Given the description of an element on the screen output the (x, y) to click on. 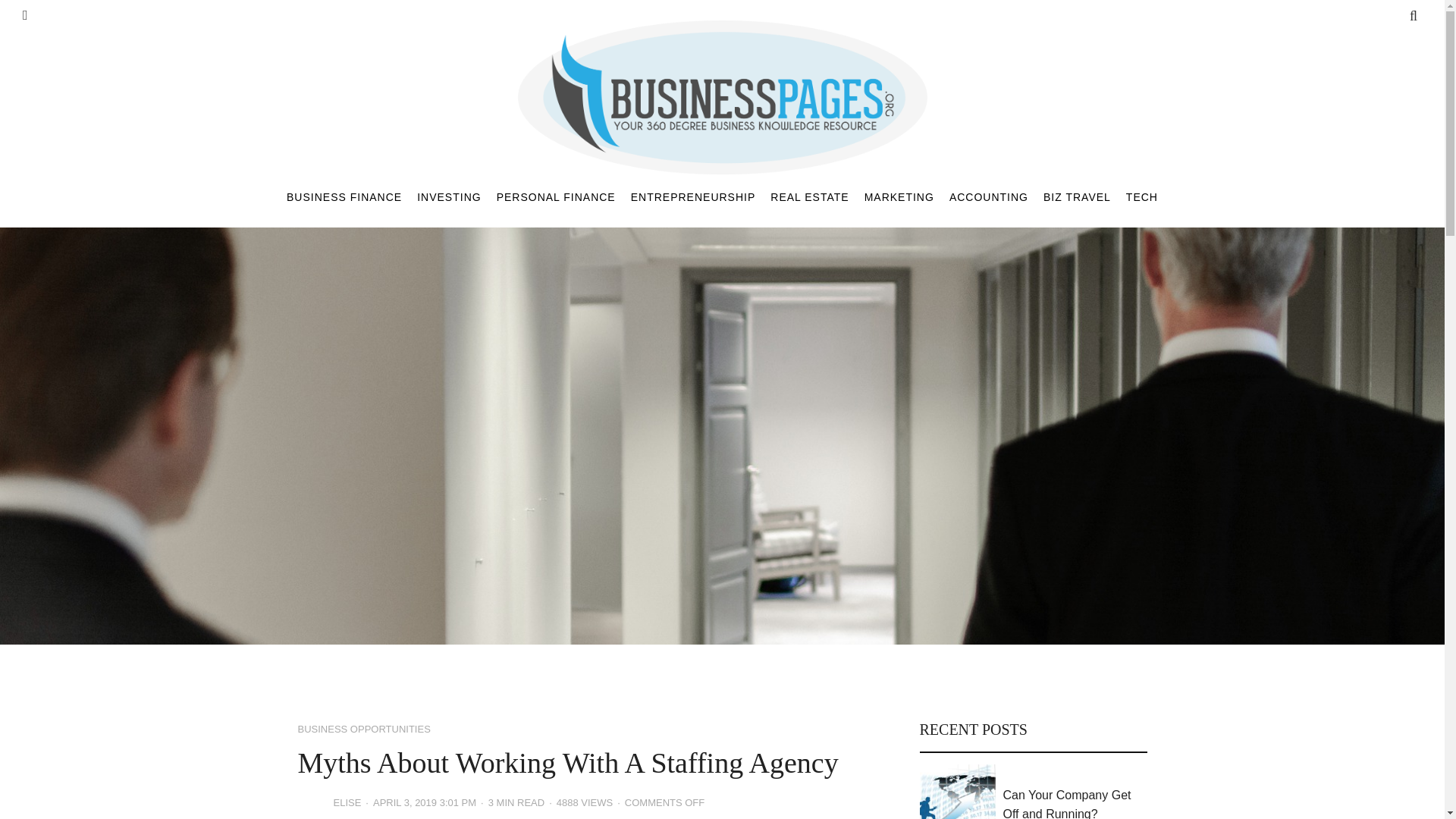
BUSINESS FINANCE (343, 196)
APRIL 3, 2019 3:01 PM (424, 803)
Permalink to Myths About Working With A Staffing Agency (424, 803)
Posts by Elise (347, 803)
Can Your Company Get Off and Running? (1075, 802)
BIZ TRAVEL (1076, 196)
MARKETING (899, 196)
INVESTING (448, 196)
REAL ESTATE (809, 196)
BUSINESS OPPORTUNITIES (363, 729)
